Given the description of an element on the screen output the (x, y) to click on. 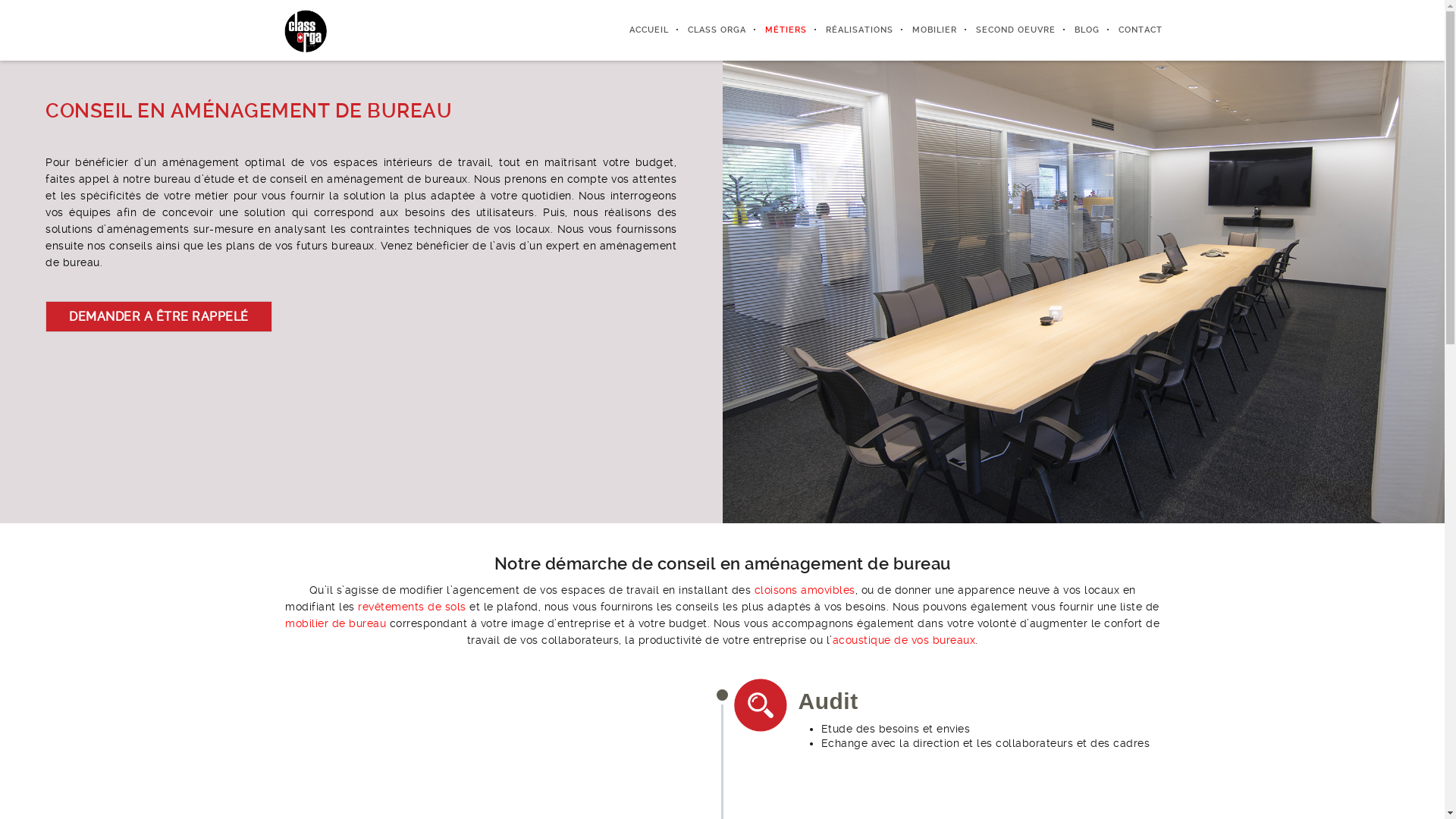
mobilier de bureau Element type: text (335, 623)
CLASS ORGA Element type: text (707, 30)
SECOND OEUVRE Element type: text (1006, 30)
acoustique de vos bureaux Element type: text (903, 639)
BLOG Element type: text (1077, 30)
cloisons amovibles Element type: text (802, 589)
ACCUEIL Element type: text (638, 30)
Class Orga Element type: hover (304, 30)
MOBILIER Element type: text (925, 30)
CONTACT Element type: text (1130, 30)
